Given the description of an element on the screen output the (x, y) to click on. 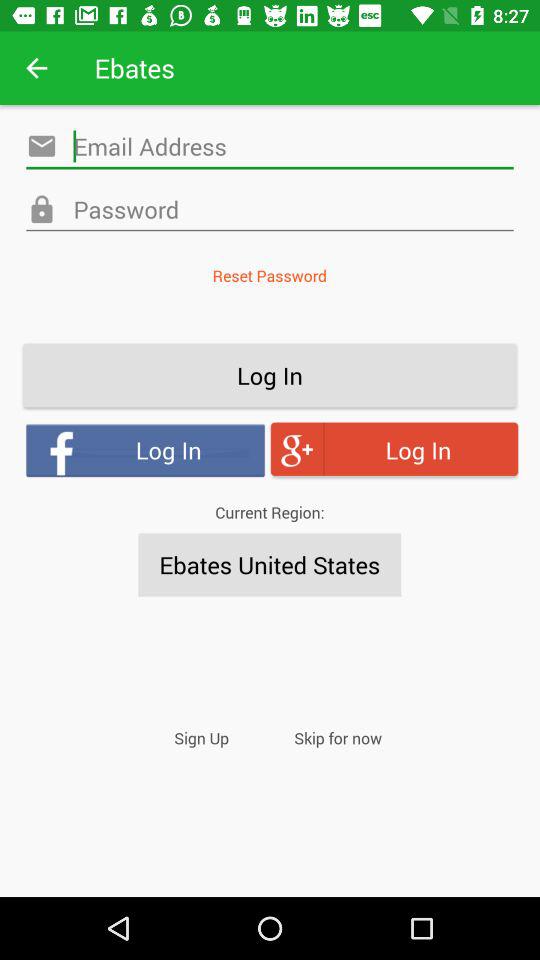
write email address for login (270, 146)
